Given the description of an element on the screen output the (x, y) to click on. 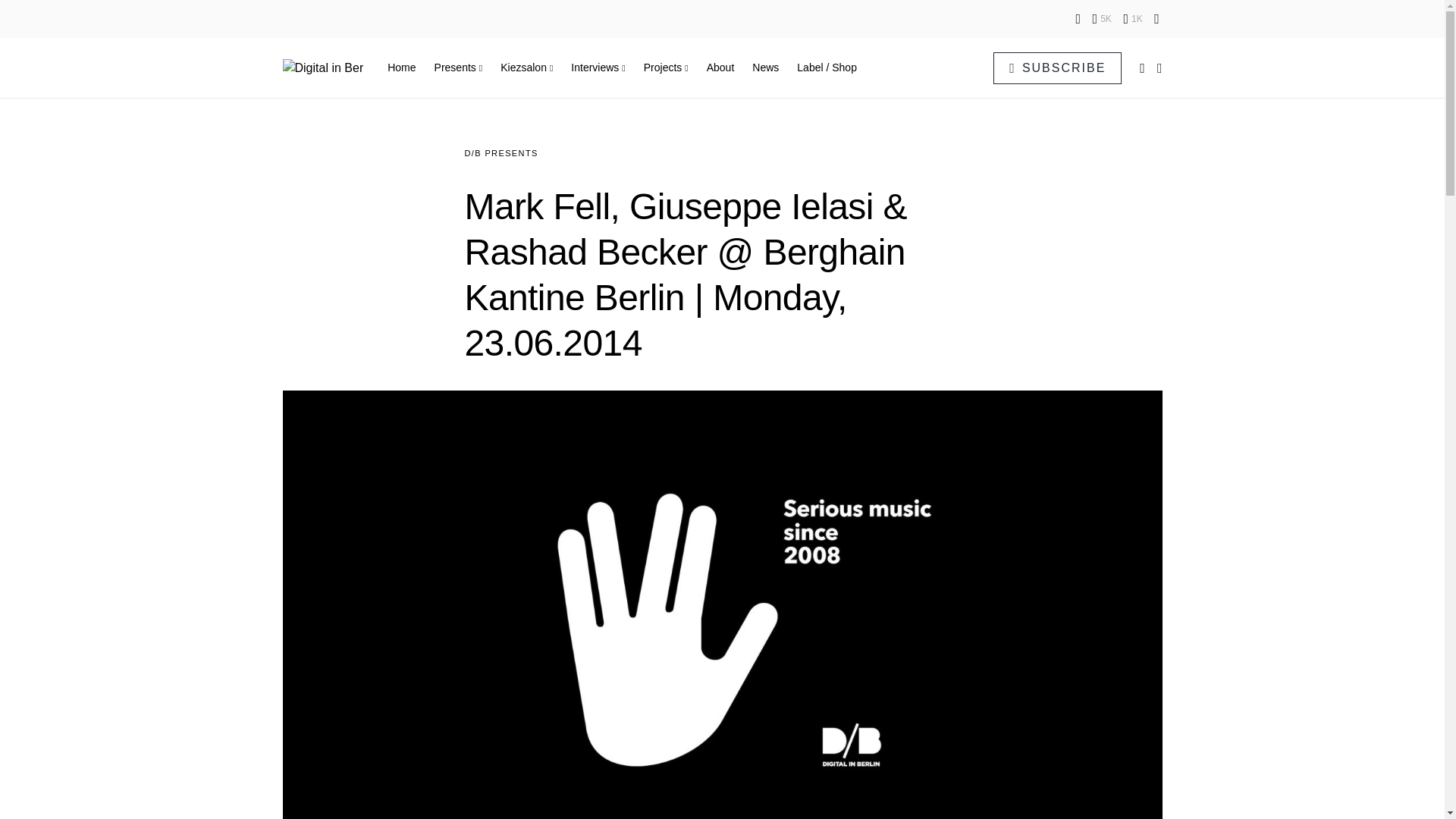
1K (1131, 18)
5K (1102, 18)
